Given the description of an element on the screen output the (x, y) to click on. 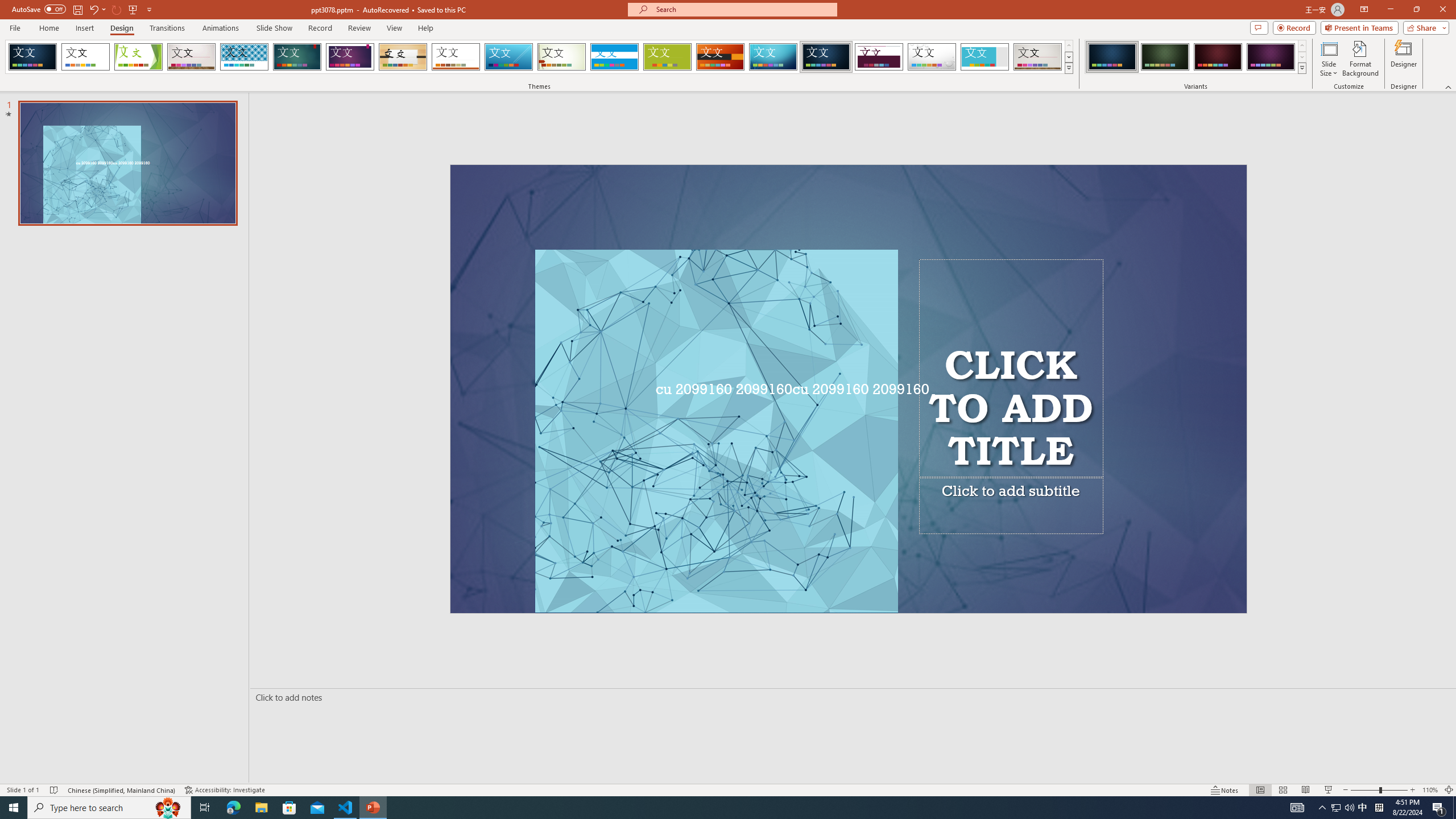
Zoom 110% (1430, 790)
Damask Variant 4 (1270, 56)
Integral (244, 56)
Variants (1301, 67)
Frame (984, 56)
